Given the description of an element on the screen output the (x, y) to click on. 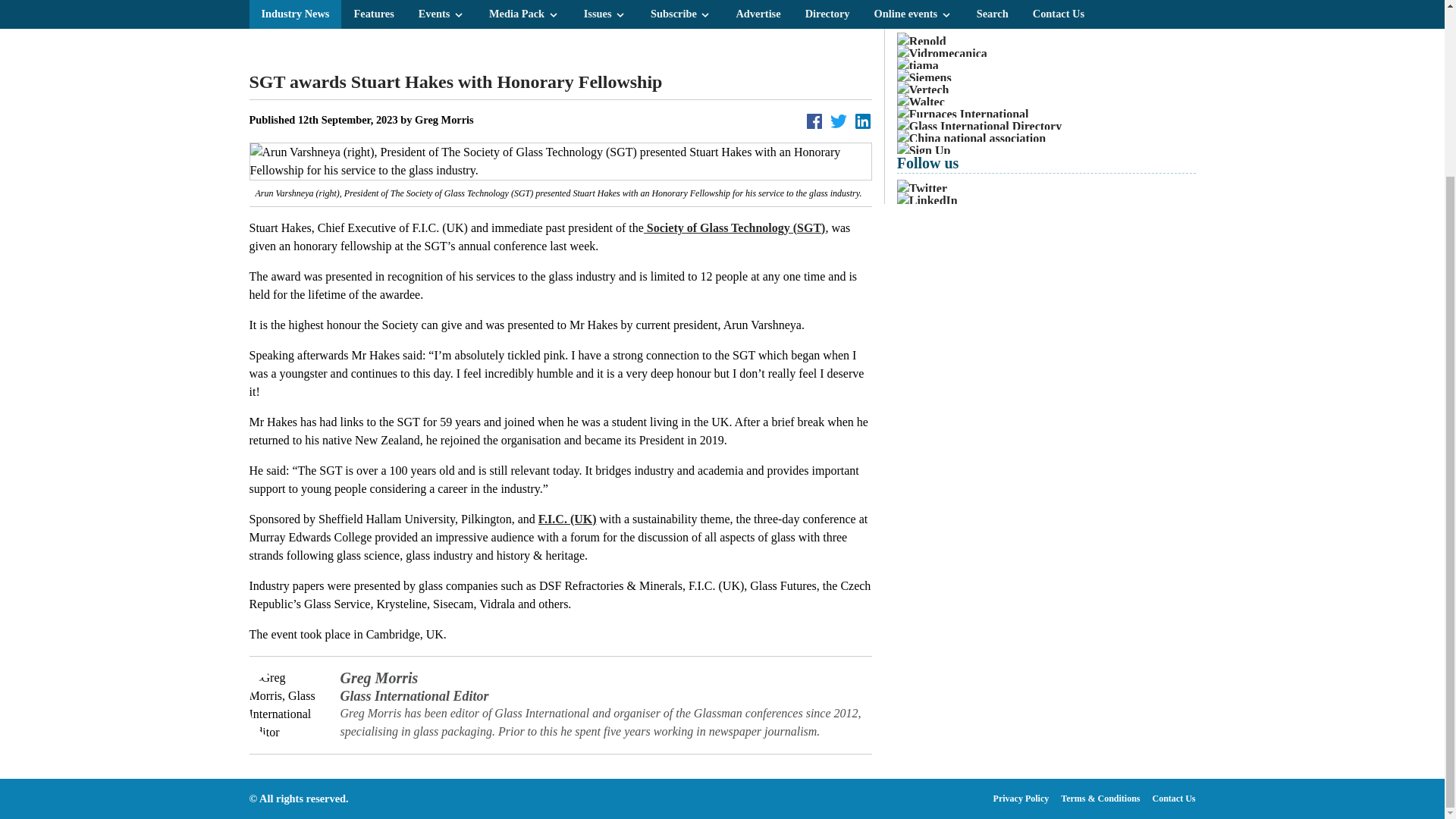
Glass International Directory (1045, 126)
Siemens (1045, 77)
AGR (559, 29)
Share on LinkedIn (862, 121)
China national association (1045, 138)
Waltec (1045, 102)
Vertech (1045, 90)
Share on Facebook (814, 121)
Furnaces International (1045, 114)
tiama (1045, 65)
